Given the description of an element on the screen output the (x, y) to click on. 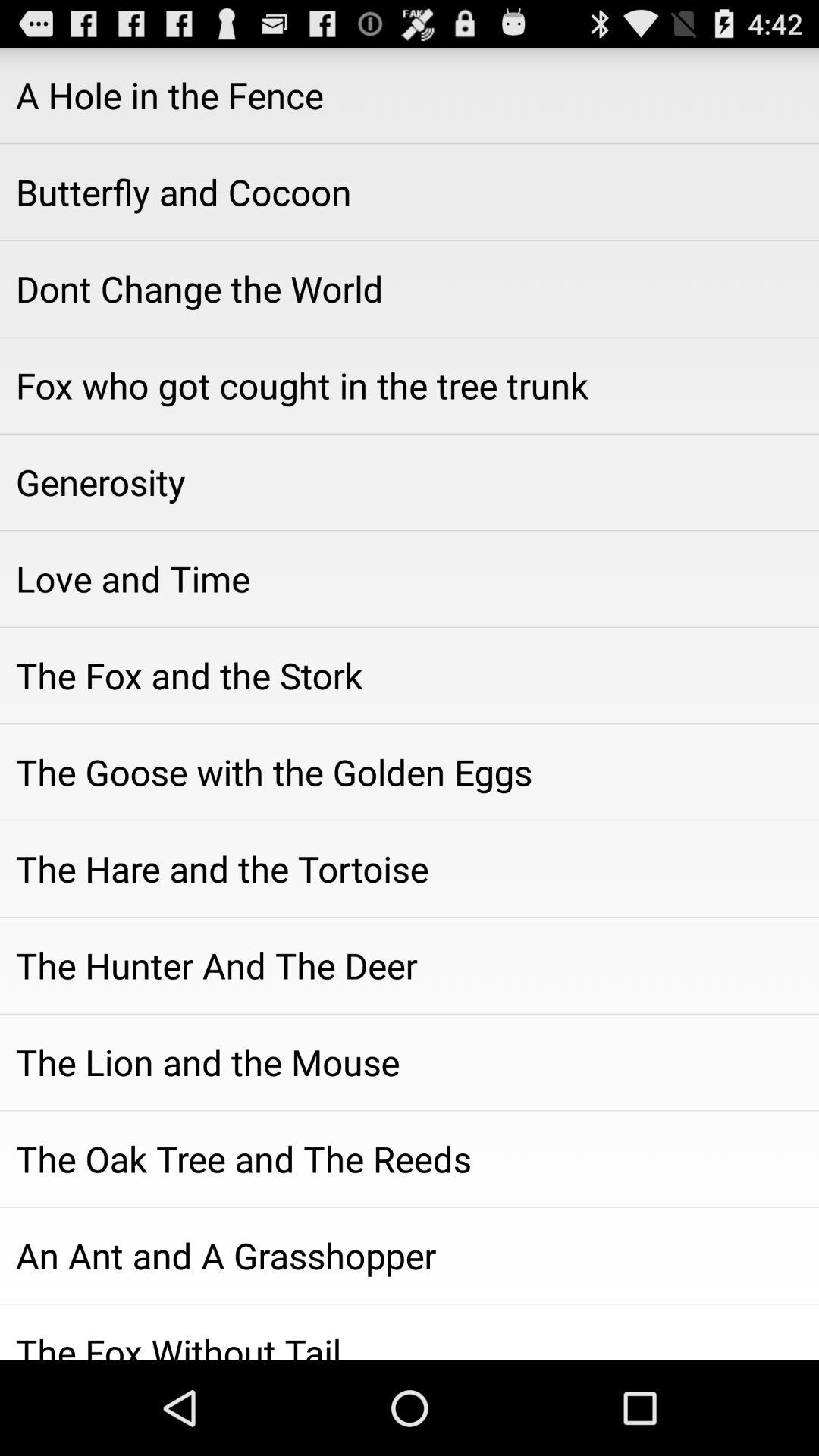
select app below the generosity app (409, 578)
